Given the description of an element on the screen output the (x, y) to click on. 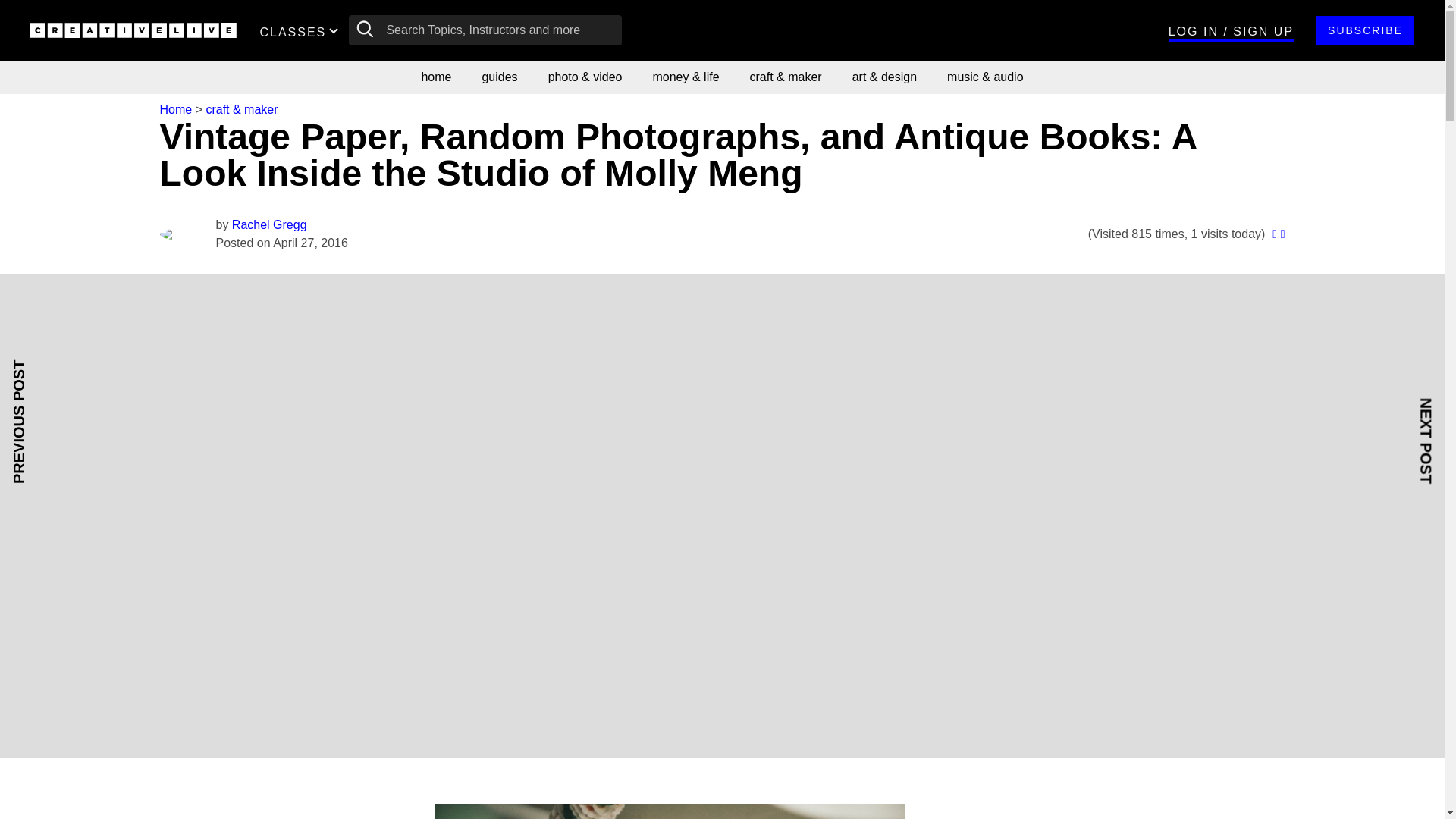
CLASSES (302, 30)
